Given the description of an element on the screen output the (x, y) to click on. 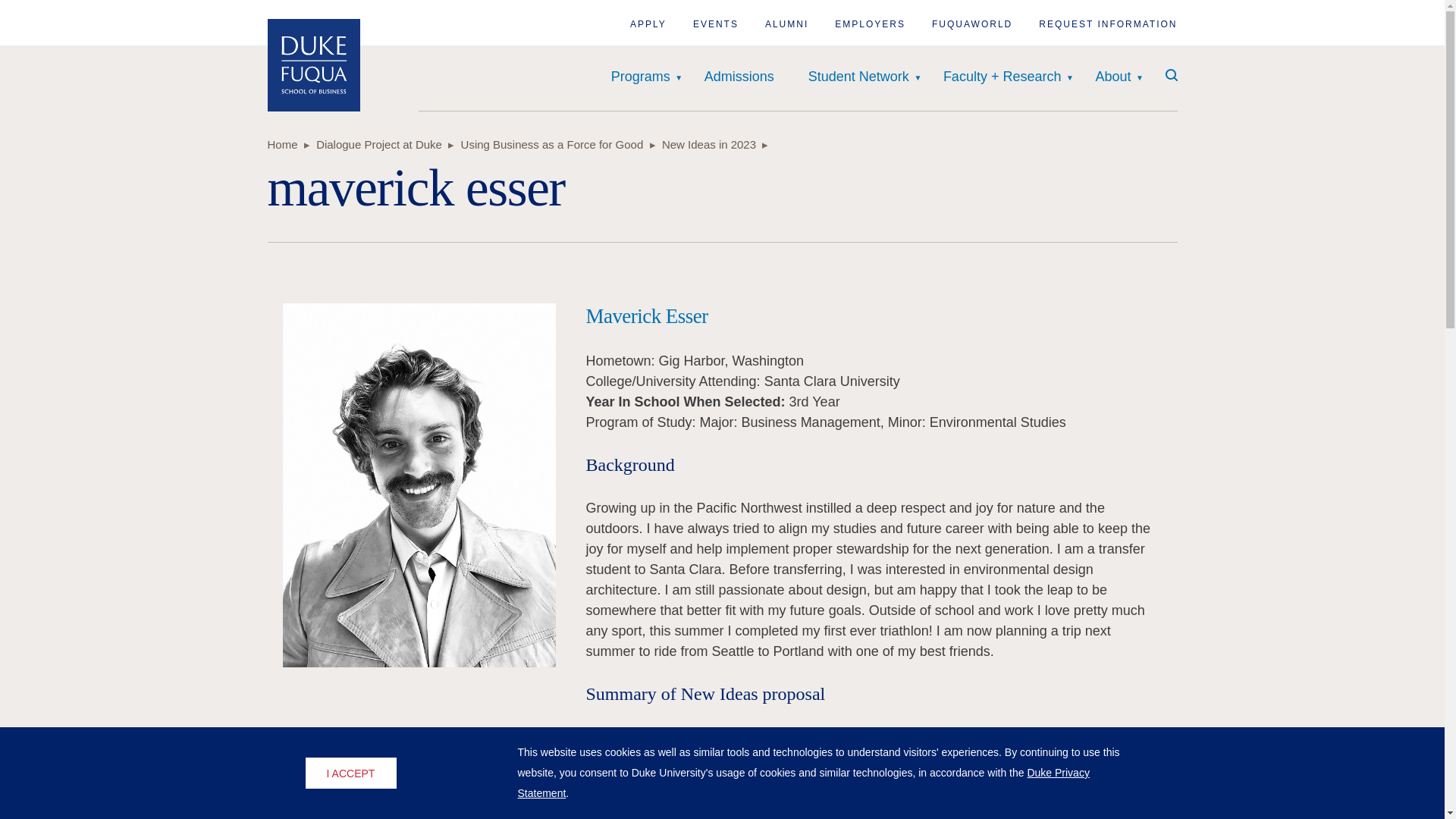
Home (312, 64)
Admissions (739, 76)
Student Network (858, 76)
APPLY (648, 23)
Programs (640, 76)
